Given the description of an element on the screen output the (x, y) to click on. 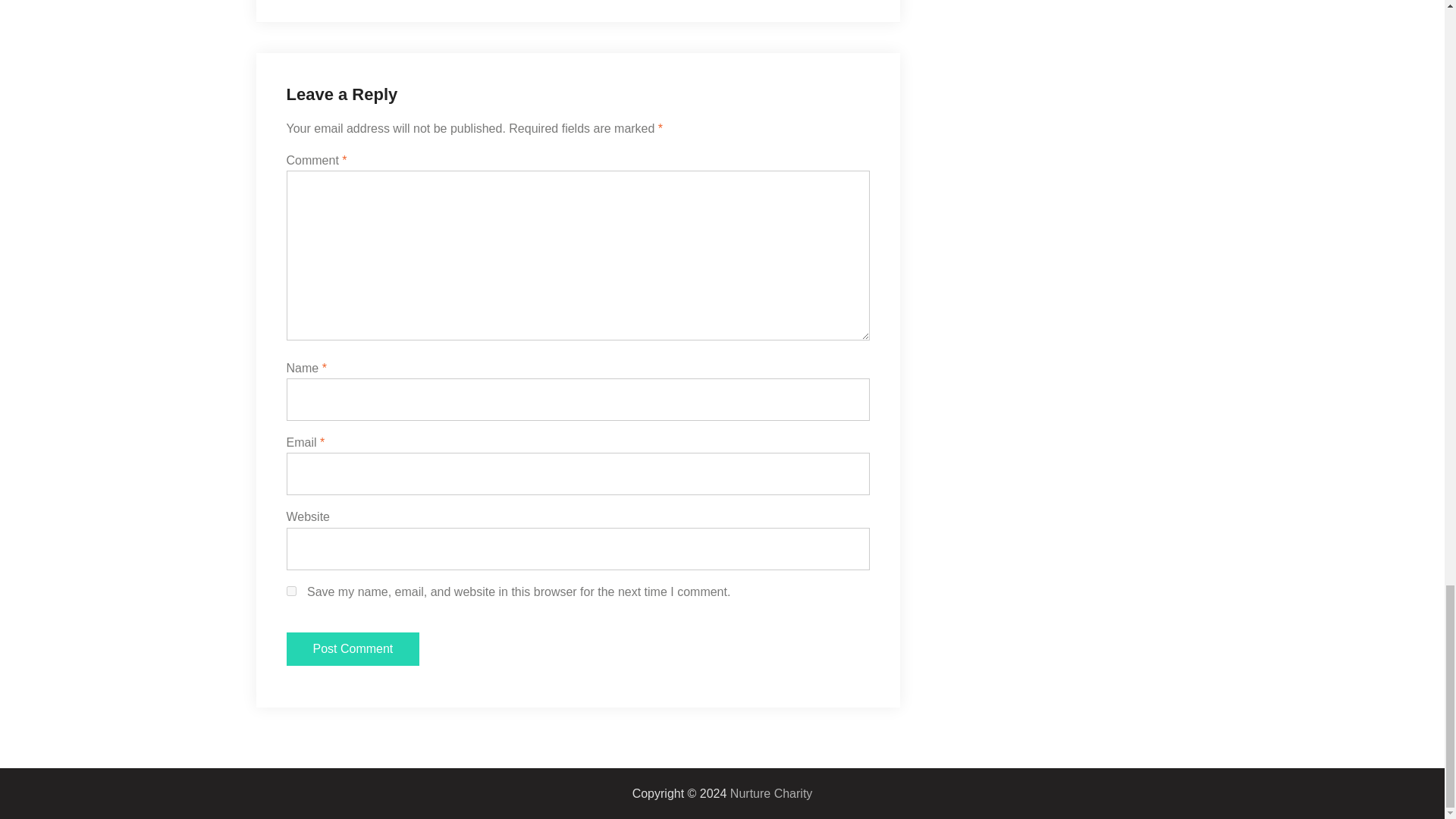
Post Comment (353, 648)
yes (291, 591)
Nurture Charity (771, 793)
Post Comment (353, 648)
